Given the description of an element on the screen output the (x, y) to click on. 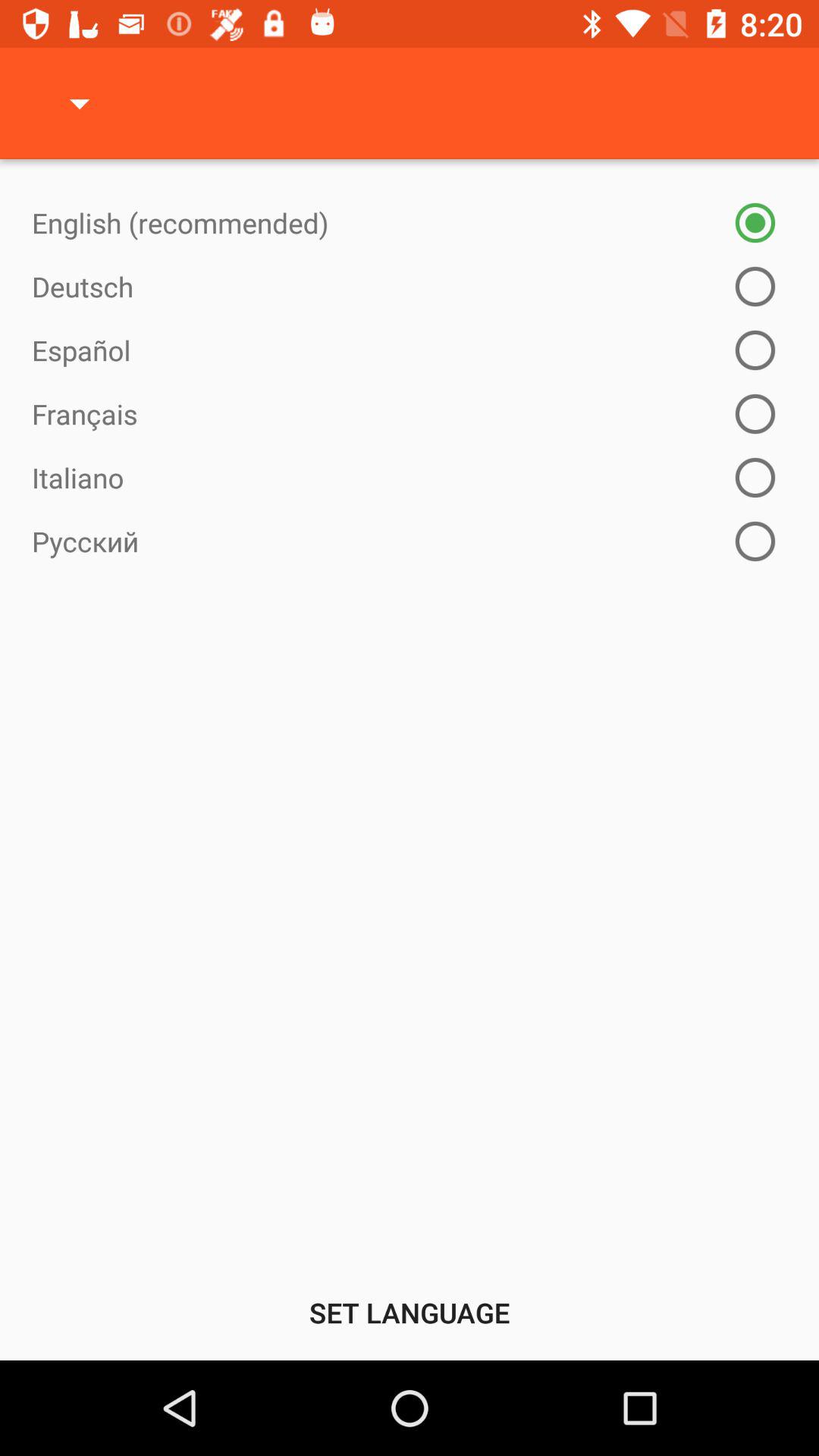
choose set language icon (409, 1312)
